Given the description of an element on the screen output the (x, y) to click on. 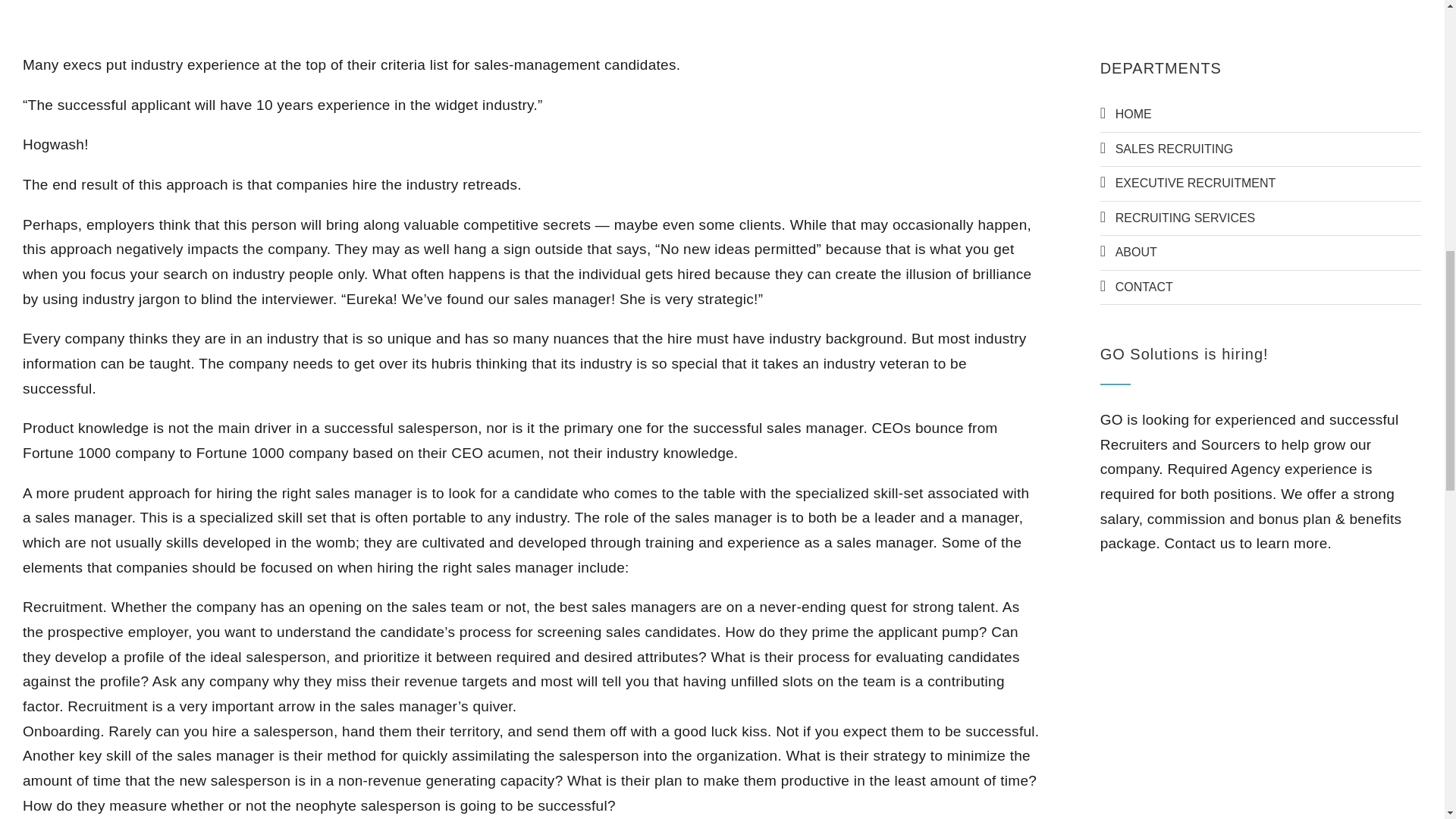
SALES RECRUITING (1260, 149)
ABOUT (1260, 252)
CONTACT (1260, 287)
HOME (1260, 114)
EXECUTIVE RECRUITMENT (1260, 183)
RECRUITING SERVICES (1260, 218)
VIEW OUR OPEN POSITIONS (1235, 646)
